Given the description of an element on the screen output the (x, y) to click on. 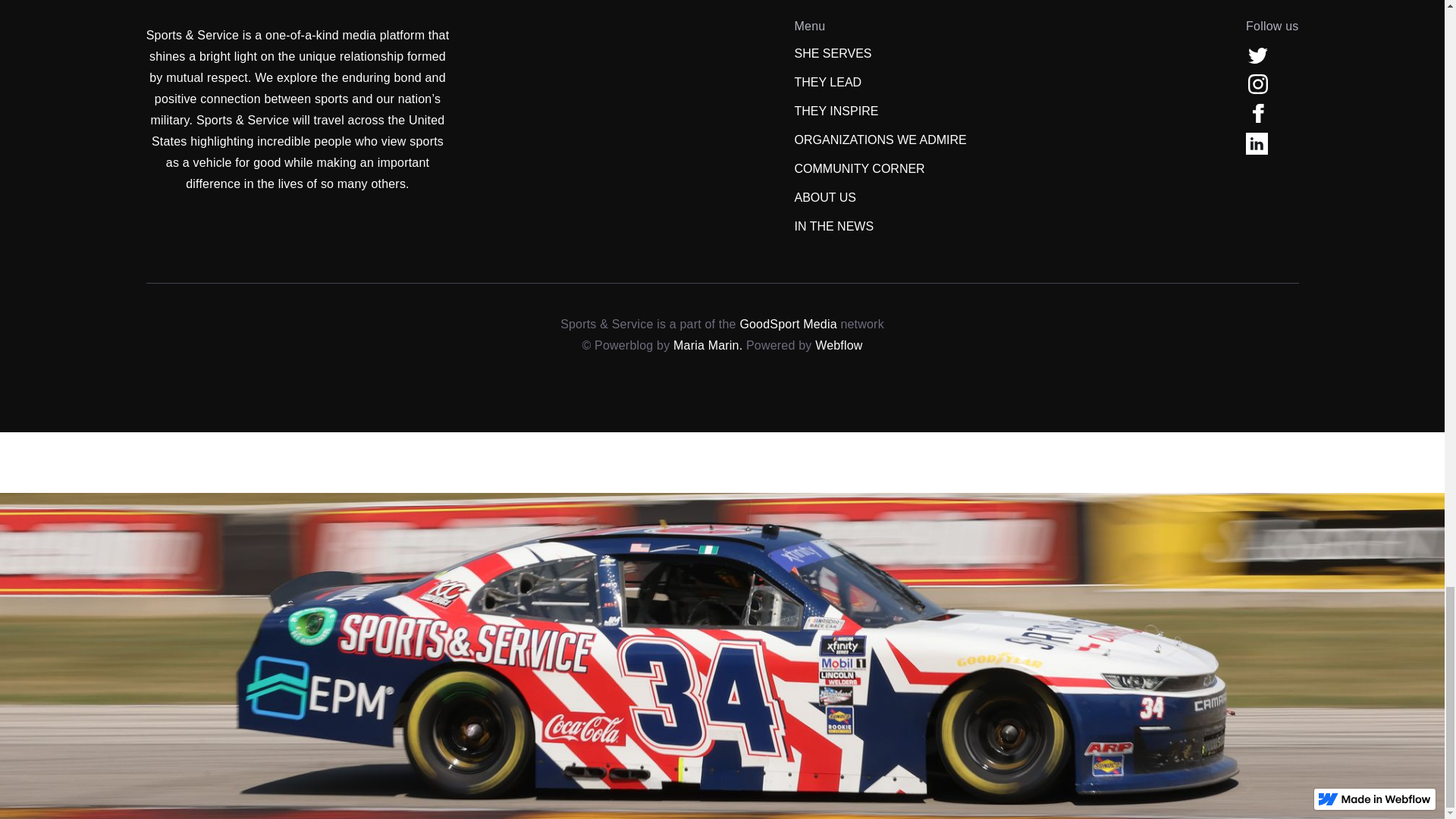
THEY INSPIRE (836, 111)
Webflow (838, 345)
IN THE NEWS (834, 226)
Maria Marin. (707, 345)
THEY LEAD (827, 82)
COMMUNITY CORNER (859, 168)
GoodSport Media (787, 323)
ORGANIZATIONS WE ADMIRE (880, 139)
ABOUT US (825, 197)
SHE SERVES (833, 53)
